Given the description of an element on the screen output the (x, y) to click on. 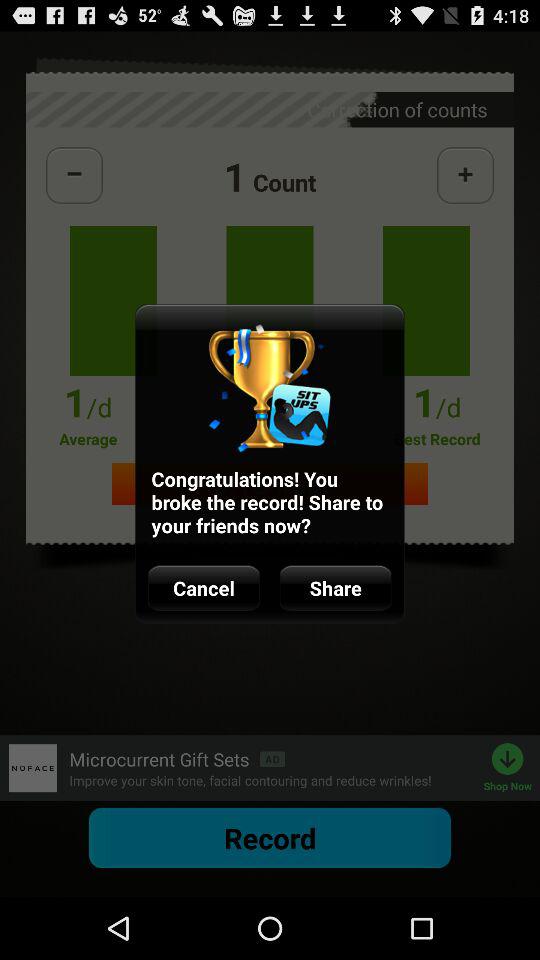
launch the cancel (203, 588)
